Given the description of an element on the screen output the (x, y) to click on. 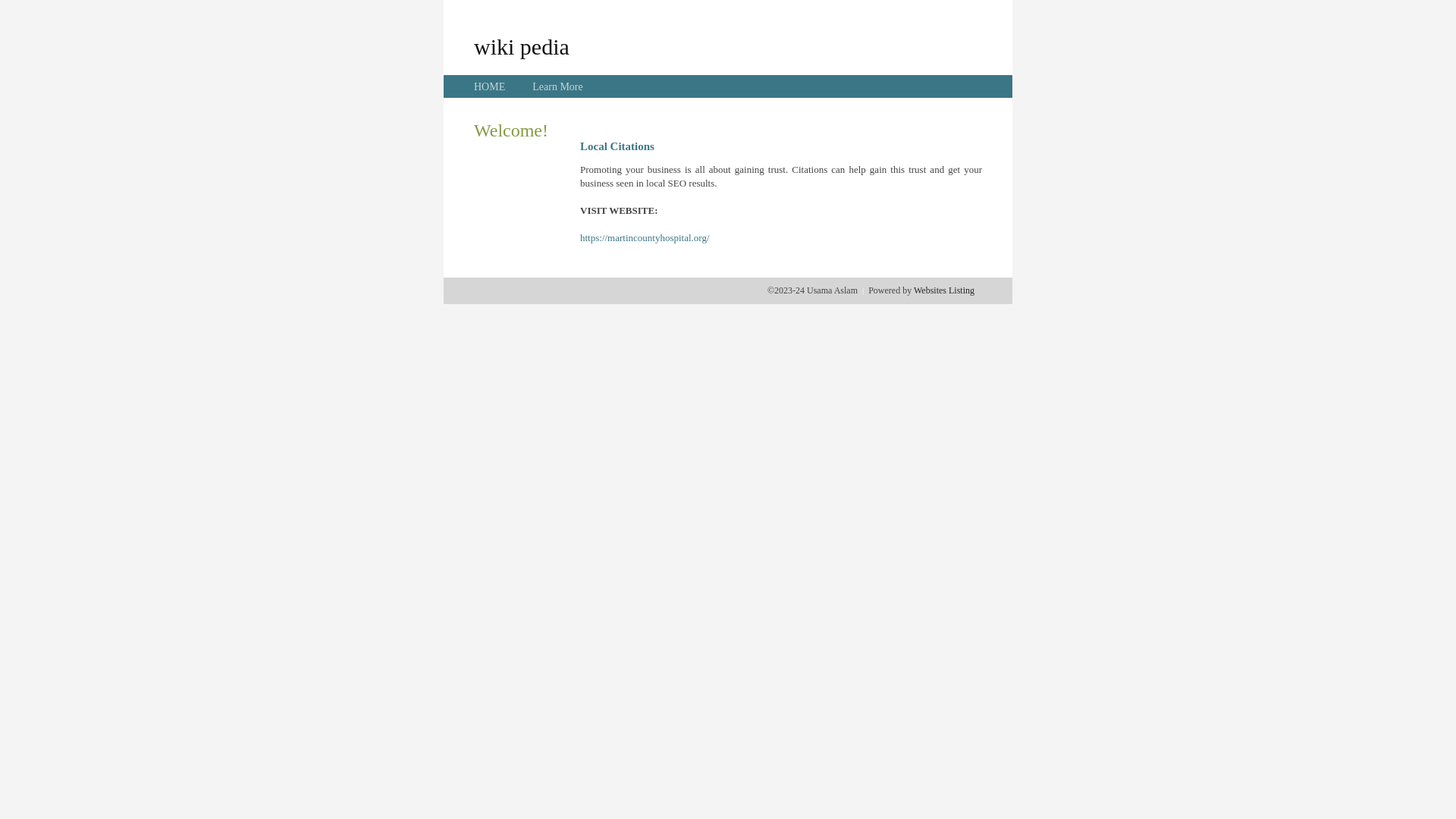
Learn More Element type: text (557, 86)
https://martincountyhospital.org/ Element type: text (644, 237)
Websites Listing Element type: text (943, 290)
wiki pedia Element type: text (521, 46)
HOME Element type: text (489, 86)
